Given the description of an element on the screen output the (x, y) to click on. 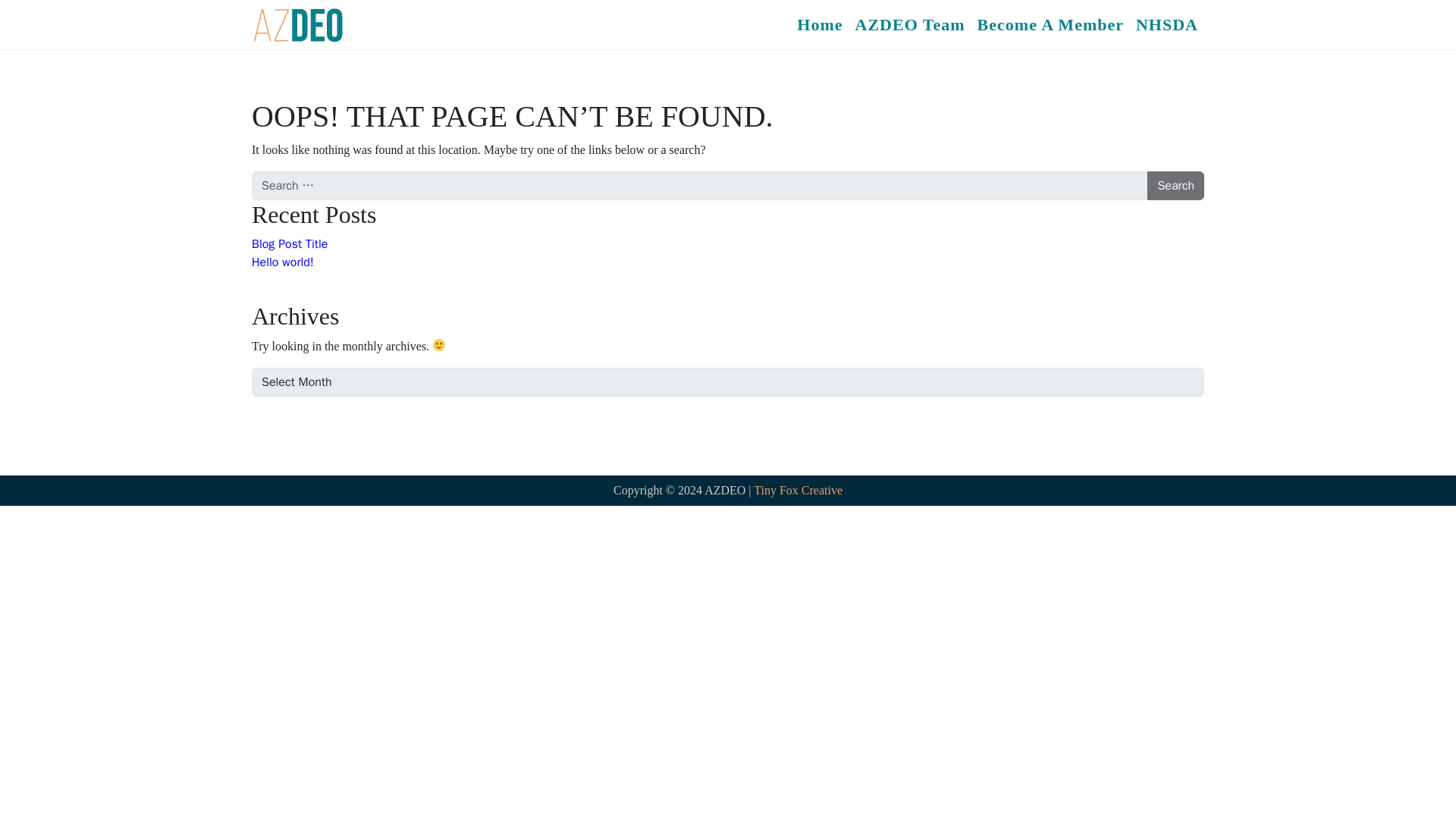
Become A Member (1050, 24)
NHSDA (1166, 24)
AZDEO Team (909, 24)
NHSDA (1166, 24)
Search (1175, 185)
AZDEO Team (909, 24)
Hello world! (282, 262)
Blog Post Title (289, 243)
Home (819, 24)
Tiny Fox Creative (798, 490)
Home (819, 24)
Search (1175, 185)
Become a Member (1050, 24)
